Given the description of an element on the screen output the (x, y) to click on. 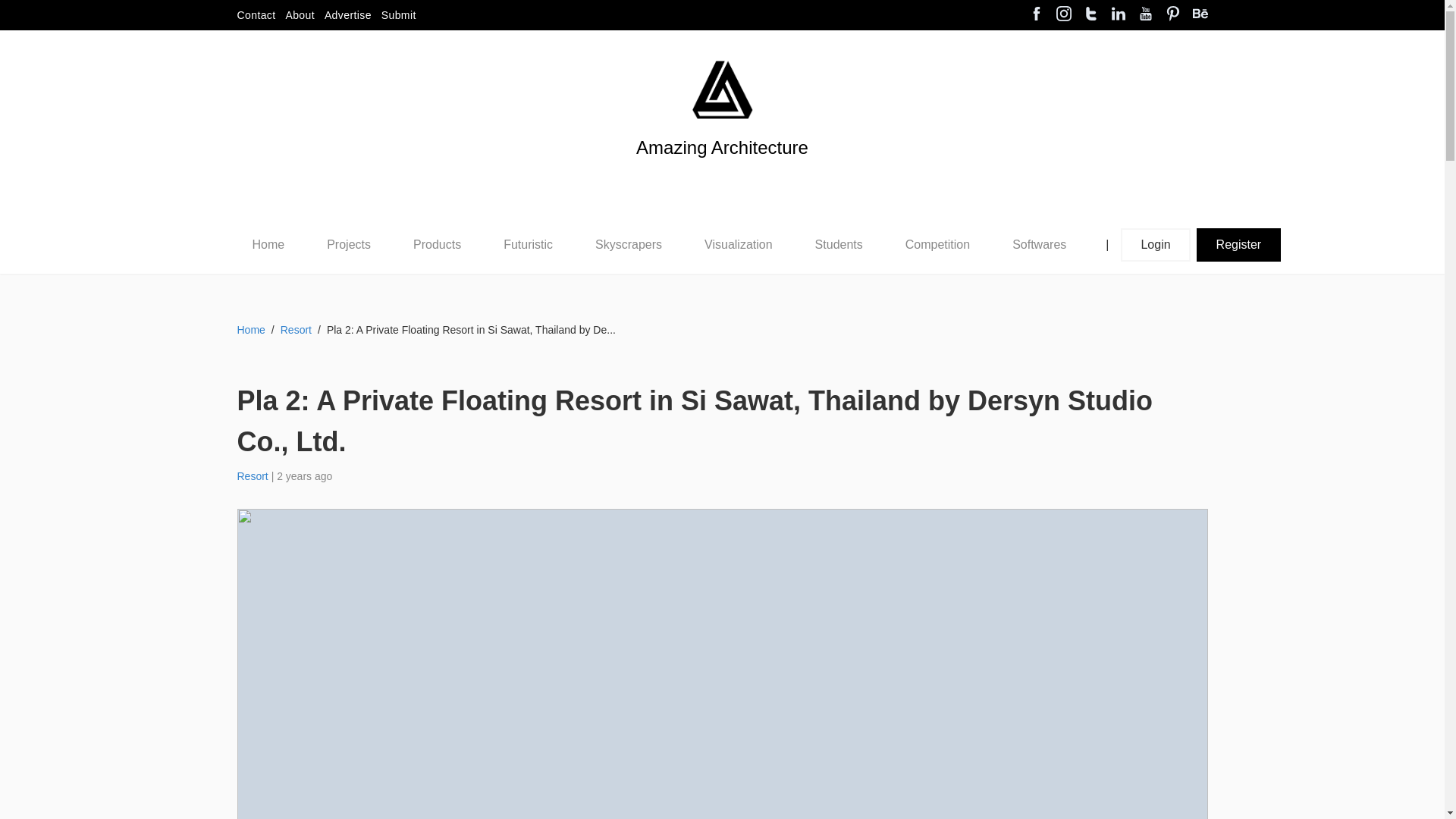
Home (267, 244)
Futuristic (528, 244)
Skyscrapers (628, 244)
Submit page (398, 15)
Home (267, 244)
Contact (255, 15)
Amazing Architecture (721, 88)
Projects (348, 245)
Contact us page (255, 15)
Projects (348, 244)
